Given the description of an element on the screen output the (x, y) to click on. 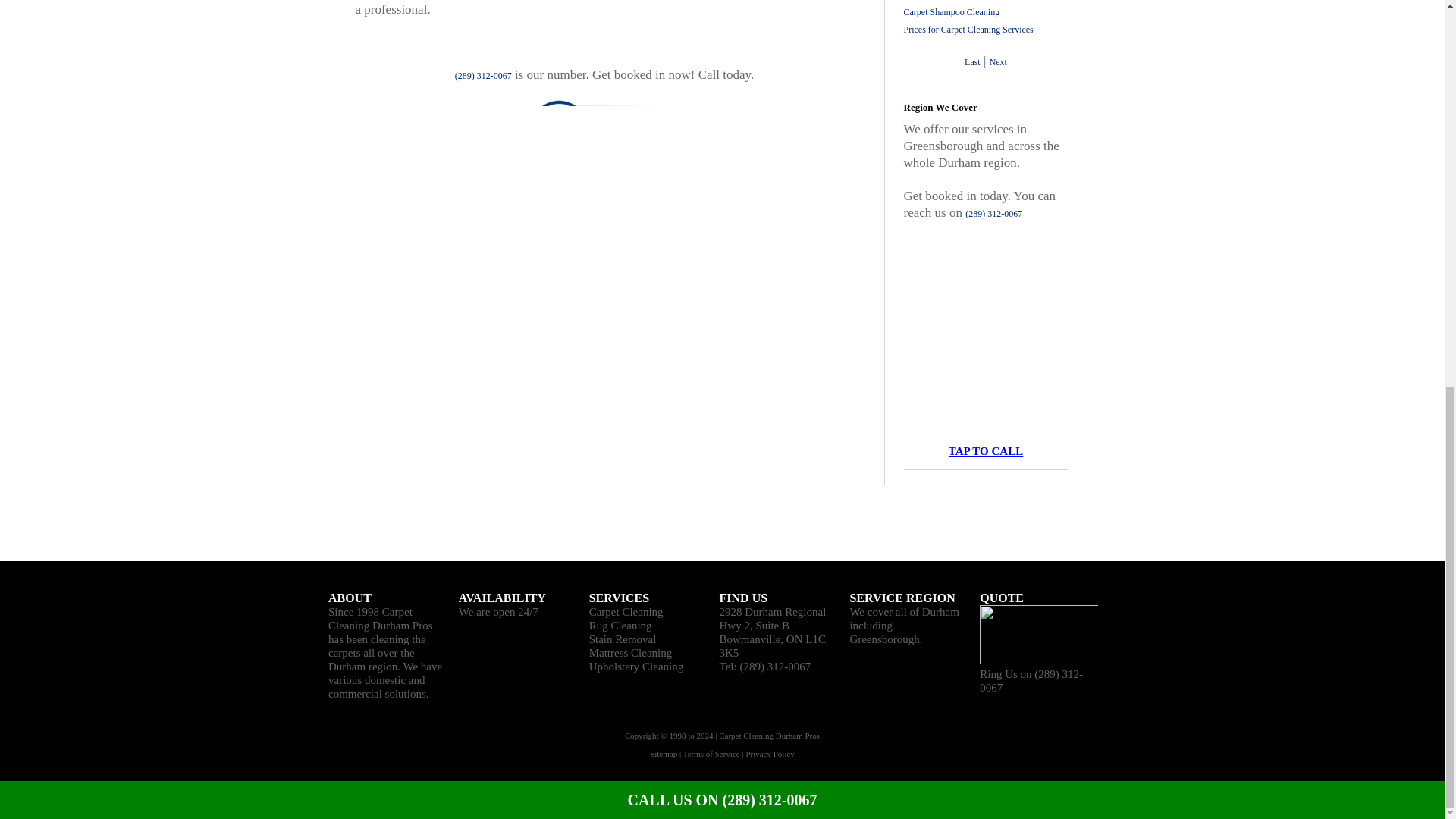
Next (998, 61)
Prices for Carpet Cleaning Services (968, 29)
Last (971, 61)
Carpet Shampoo Cleaning (952, 11)
TAP TO CALL (986, 451)
